Given the description of an element on the screen output the (x, y) to click on. 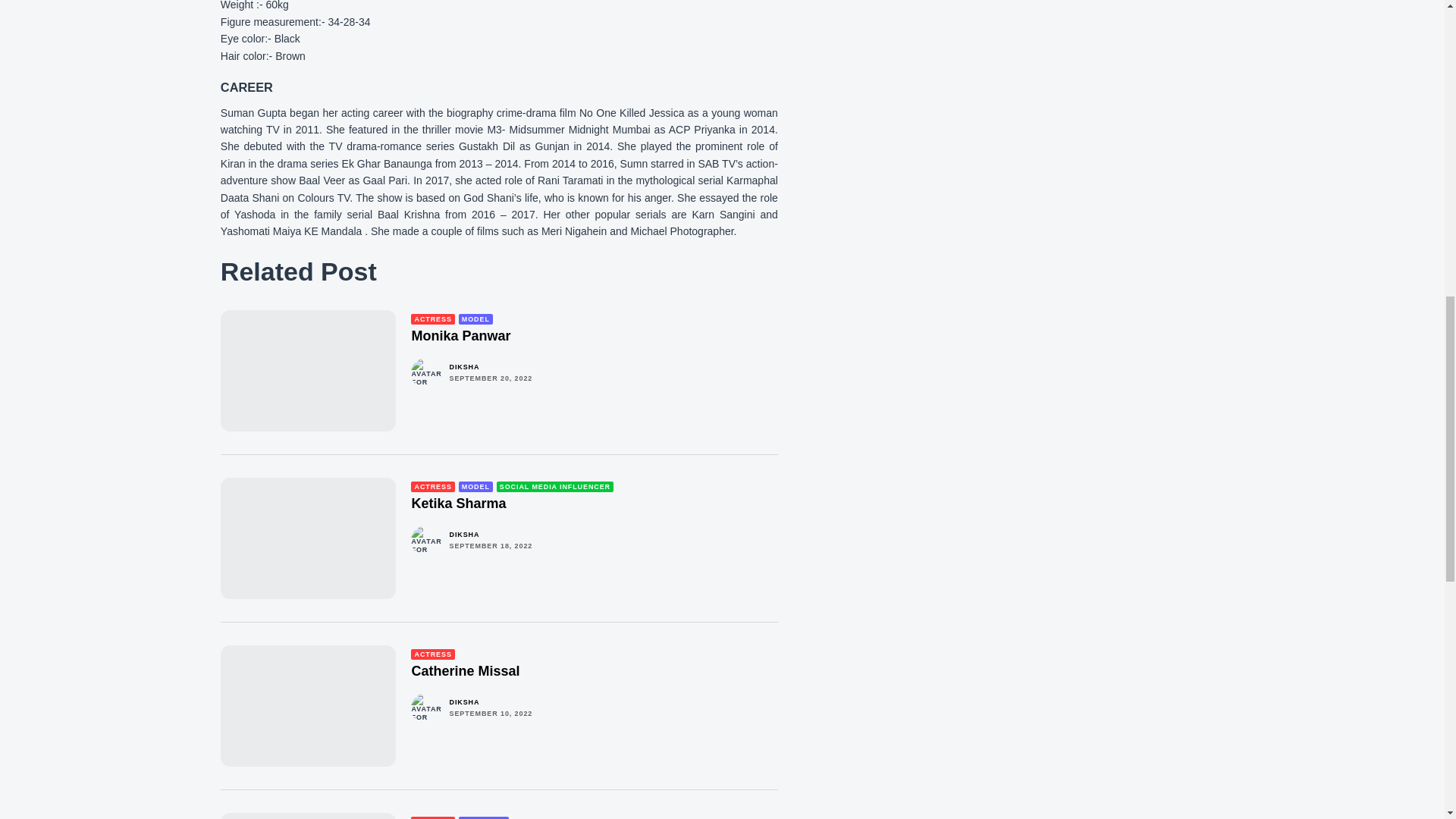
ACTRESS (432, 319)
MODEL (475, 319)
